Given the description of an element on the screen output the (x, y) to click on. 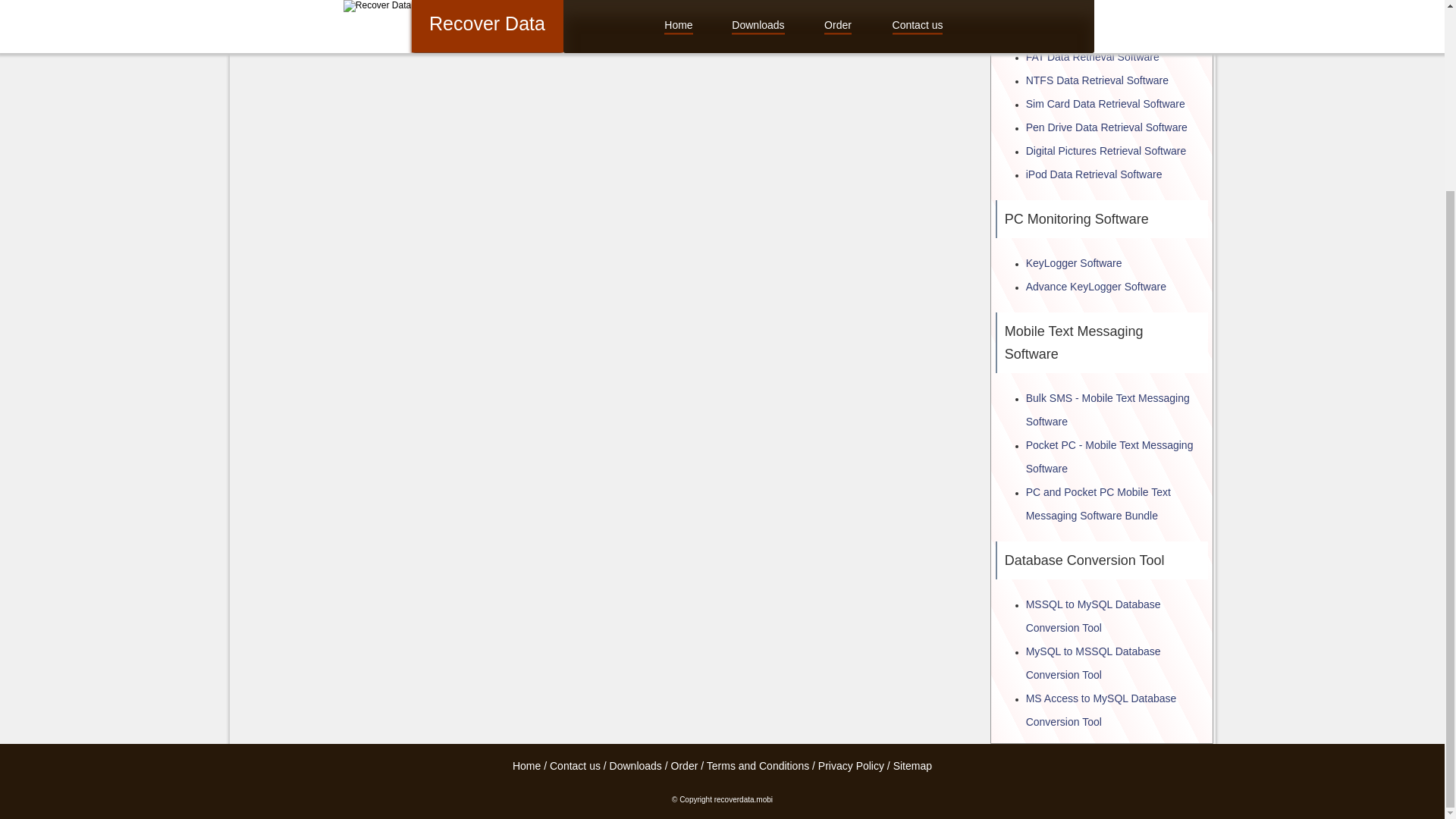
Privacy Policy (850, 766)
PC and Pocket PC Mobile Text Messaging Software Bundle (1098, 503)
NTFS Data Retrieval Software (1097, 80)
Sim Card Data Retrieval Software (1105, 103)
Digital Pictures Retrieval Software (1106, 150)
Bulk SMS - Mobile Text Messaging Software (1107, 409)
NTFS Data Retrieval Software (1097, 80)
Pocket PC - Mobile Text Messaging Software (1109, 456)
Pen Drive Data Retrieval Software (1107, 127)
Advance KeyLogger Software (1096, 286)
Order (684, 766)
Downloads (636, 766)
FAT Data Retrieval Software (1092, 56)
KeyLogger Software (1074, 263)
iPod Data Retrieval Software (1093, 174)
